Given the description of an element on the screen output the (x, y) to click on. 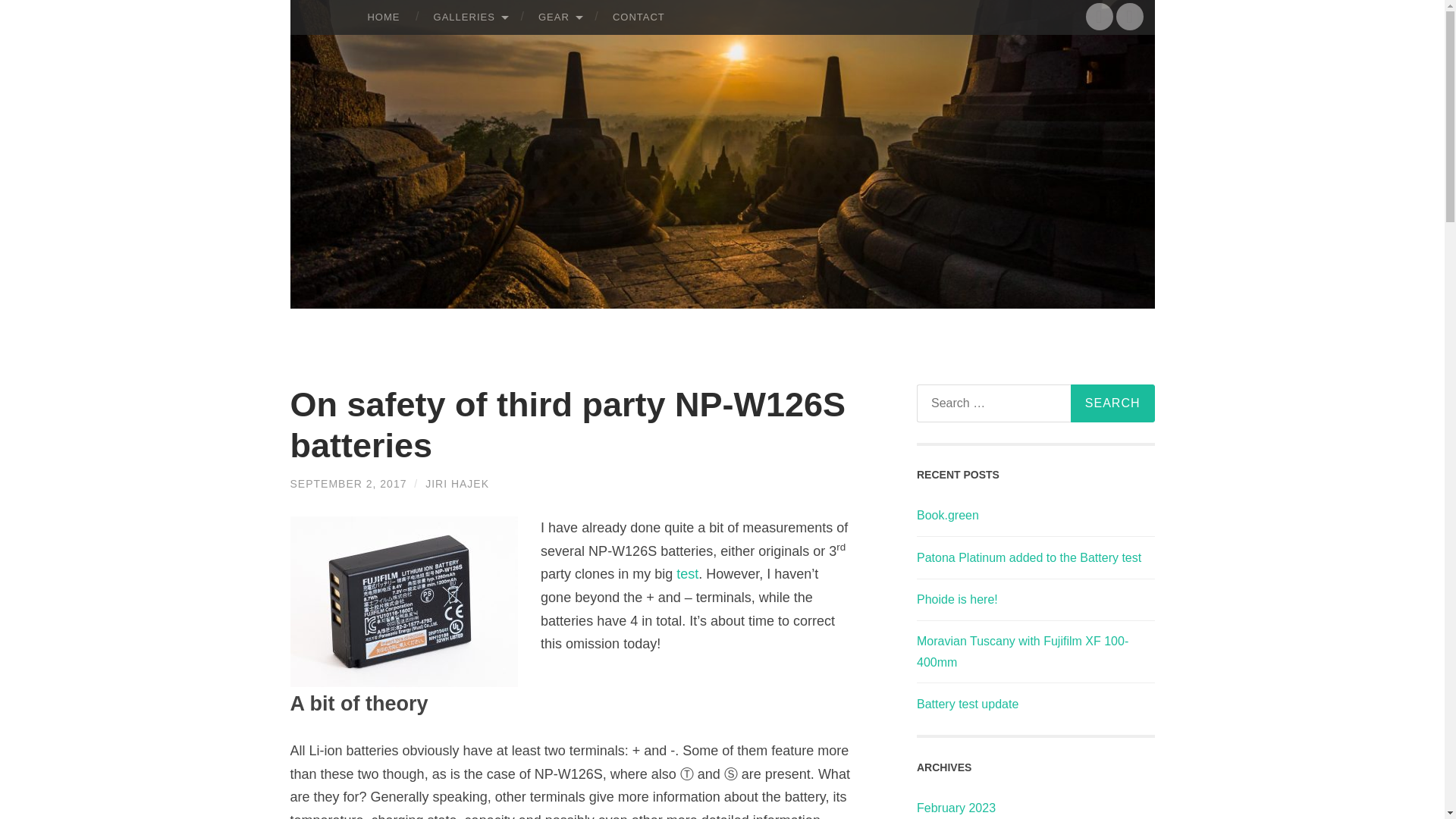
ULTRALIGHT PHOTOGRAPHY (850, 62)
Moravian Tuscany with Fujifilm XF 100-400mm (1022, 651)
HOME (383, 17)
SKIP TO CONTENT (306, 12)
CONTACT (638, 17)
Search (1112, 403)
GEAR (558, 17)
Facebook (1099, 16)
Book.green (947, 514)
JIRI HAJEK (457, 483)
Search (1112, 403)
GALLERIES (468, 17)
Patona Platinum added to the Battery test (1029, 557)
Battery test update (967, 703)
RSS (1129, 16)
